Given the description of an element on the screen output the (x, y) to click on. 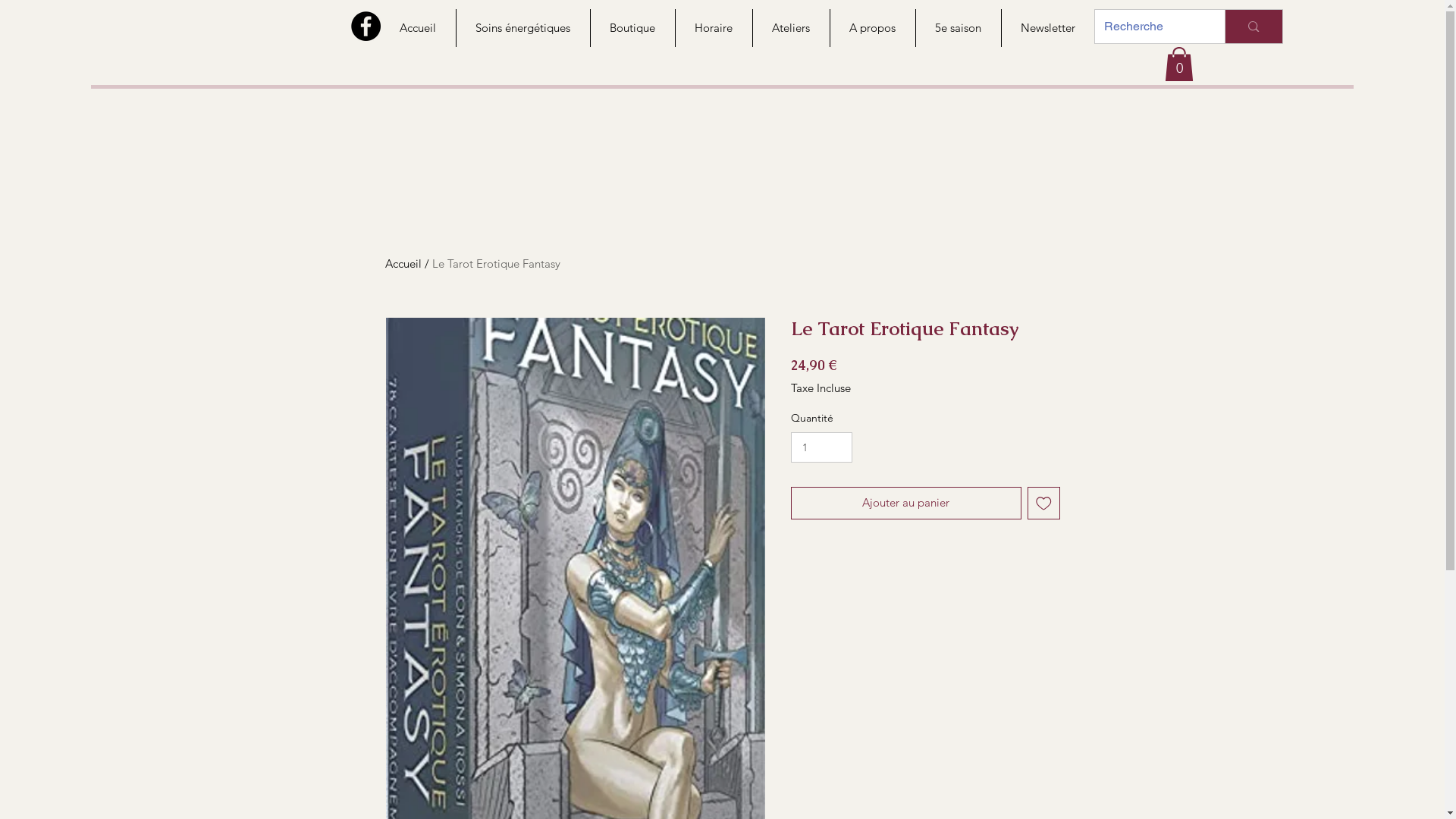
A propos Element type: text (872, 28)
Ateliers Element type: text (790, 28)
Boutique Element type: text (631, 28)
Newsletter Element type: text (1047, 28)
Le Tarot Erotique Fantasy Element type: text (496, 263)
Ajouter au panier Element type: text (905, 502)
Horaire Element type: text (713, 28)
Accueil Element type: text (417, 28)
Accueil Element type: text (403, 263)
0 Element type: text (1178, 64)
5e saison Element type: text (957, 28)
